Given the description of an element on the screen output the (x, y) to click on. 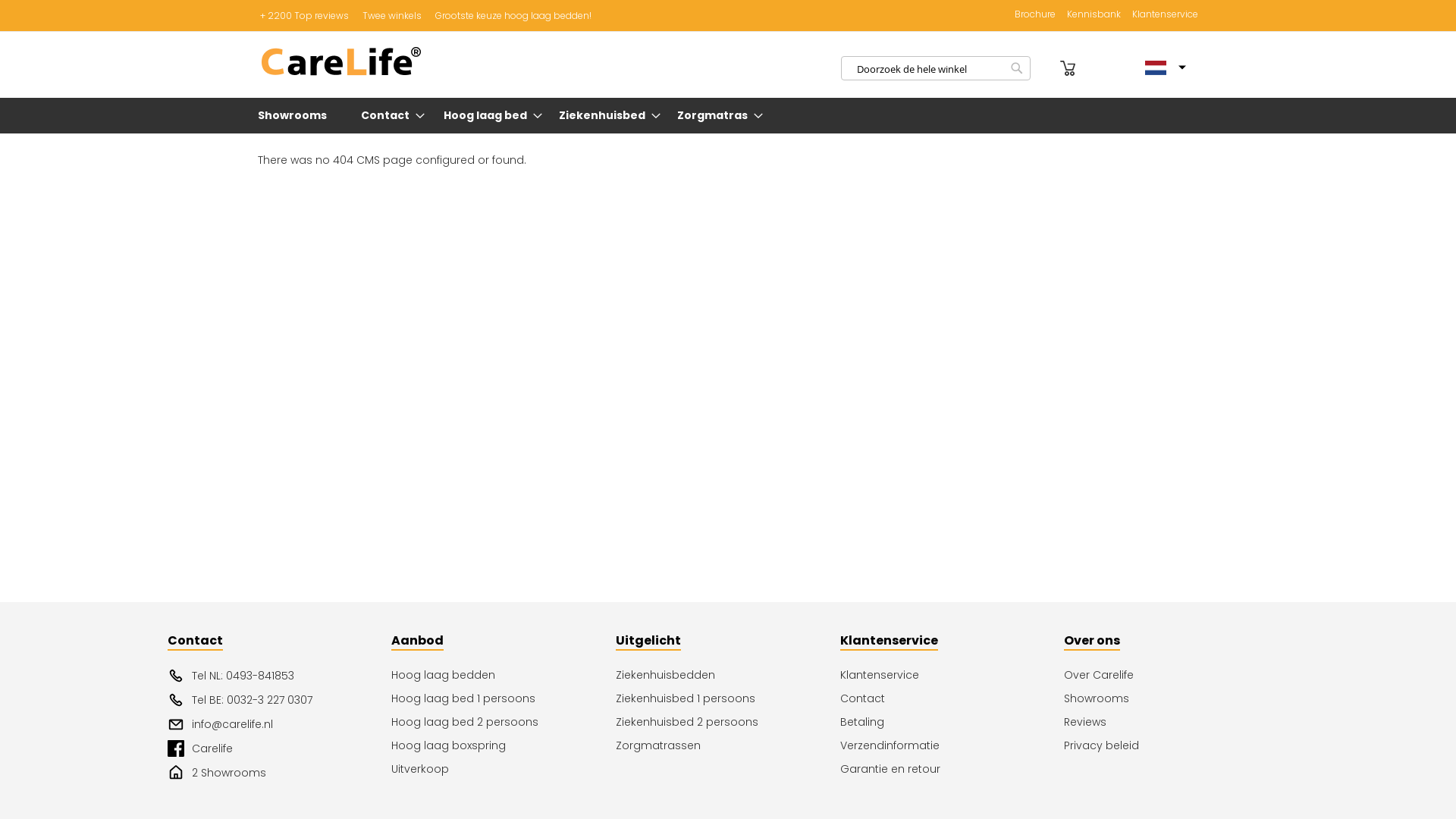
Zorgmatrassen Element type: text (727, 745)
Privacy beleid Element type: text (1175, 745)
Betaling Element type: text (952, 722)
Hoog laag bedden Element type: text (503, 675)
Hoog laag bed 2 persoons Element type: text (503, 722)
Zorgmatras Element type: text (715, 115)
2 Showrooms Element type: text (279, 772)
Carelife Element type: text (279, 748)
Garantie en retour Element type: text (952, 769)
Over Carelife Element type: text (1175, 675)
Verzendinformatie Element type: text (952, 745)
Twee winkels Element type: text (390, 15)
Ga naar de inhoud Element type: text (257, 6)
Reviews Element type: text (1175, 722)
Grootste keuze hoog laag bedden! Element type: text (512, 15)
Ziekenhuisbed Element type: text (604, 115)
Tel NL: 0493-841853 Element type: text (279, 675)
Hoog laag boxspring Element type: text (503, 745)
Klantenservice Element type: text (1165, 14)
Hoog laag bed Element type: text (488, 115)
Search Element type: text (1016, 68)
Contact Element type: text (952, 698)
Ziekenhuisbedden Element type: text (727, 675)
signin Element type: hover (1046, 68)
Winkelwagen Element type: text (1067, 67)
Contact Element type: text (387, 115)
Uitverkoop Element type: text (503, 769)
Tel BE: 0032-3 227 0307 Element type: text (279, 699)
Brochure Element type: text (1034, 14)
Showrooms Element type: text (1175, 698)
Hoog laag bed 1 persoons Element type: text (503, 698)
+ 2200 Top reviews Element type: text (302, 15)
Klantenservice Element type: text (952, 675)
info@carelife.nl Element type: text (279, 723)
Ziekenhuisbed 2 persoons Element type: text (727, 722)
Kennisbank Element type: text (1093, 14)
CareLife.nl Element type: hover (340, 61)
Ziekenhuisbed 1 persoons Element type: text (727, 698)
Showrooms Element type: text (295, 115)
